Given the description of an element on the screen output the (x, y) to click on. 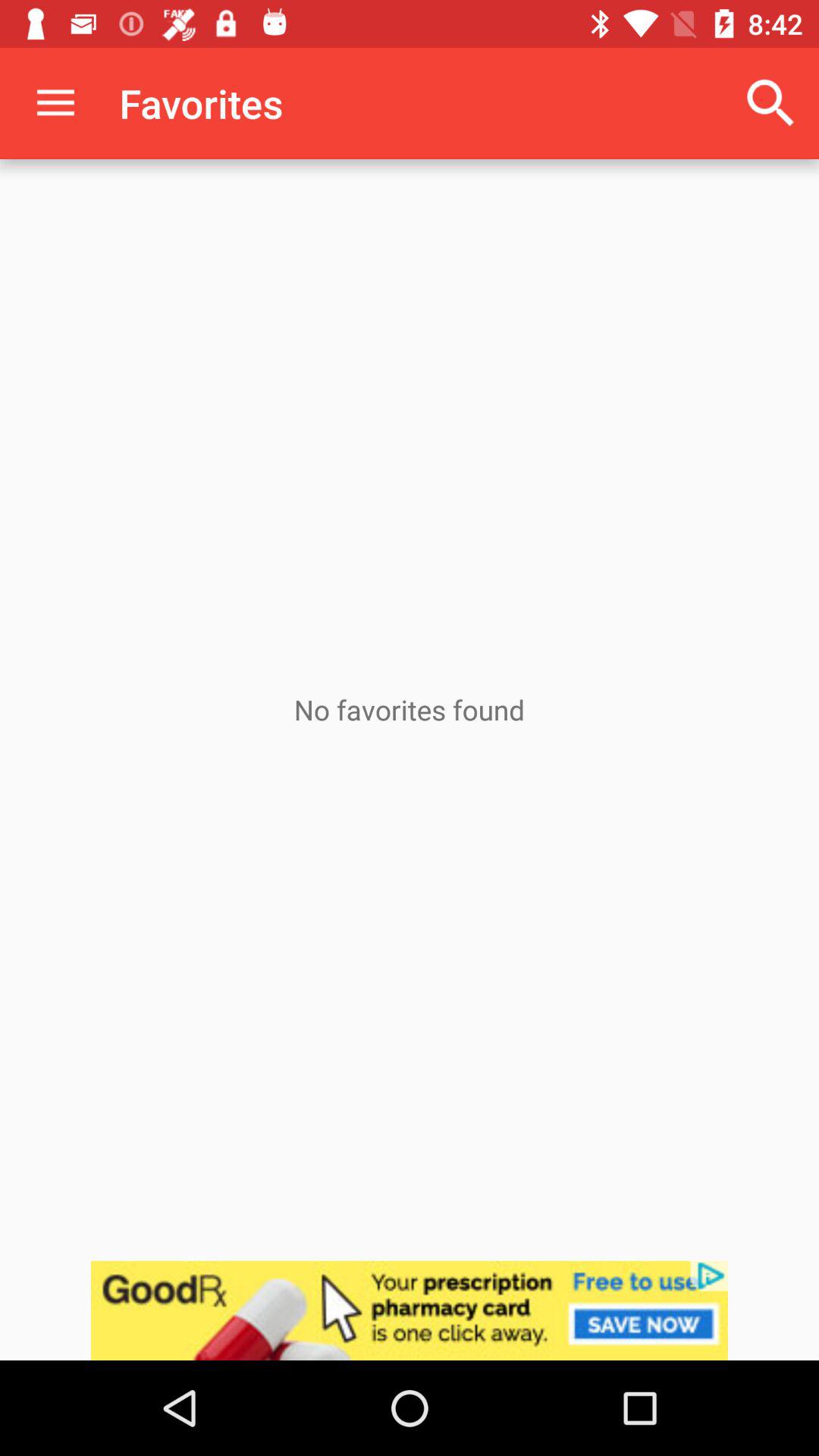
link to advertisement (409, 1310)
